Given the description of an element on the screen output the (x, y) to click on. 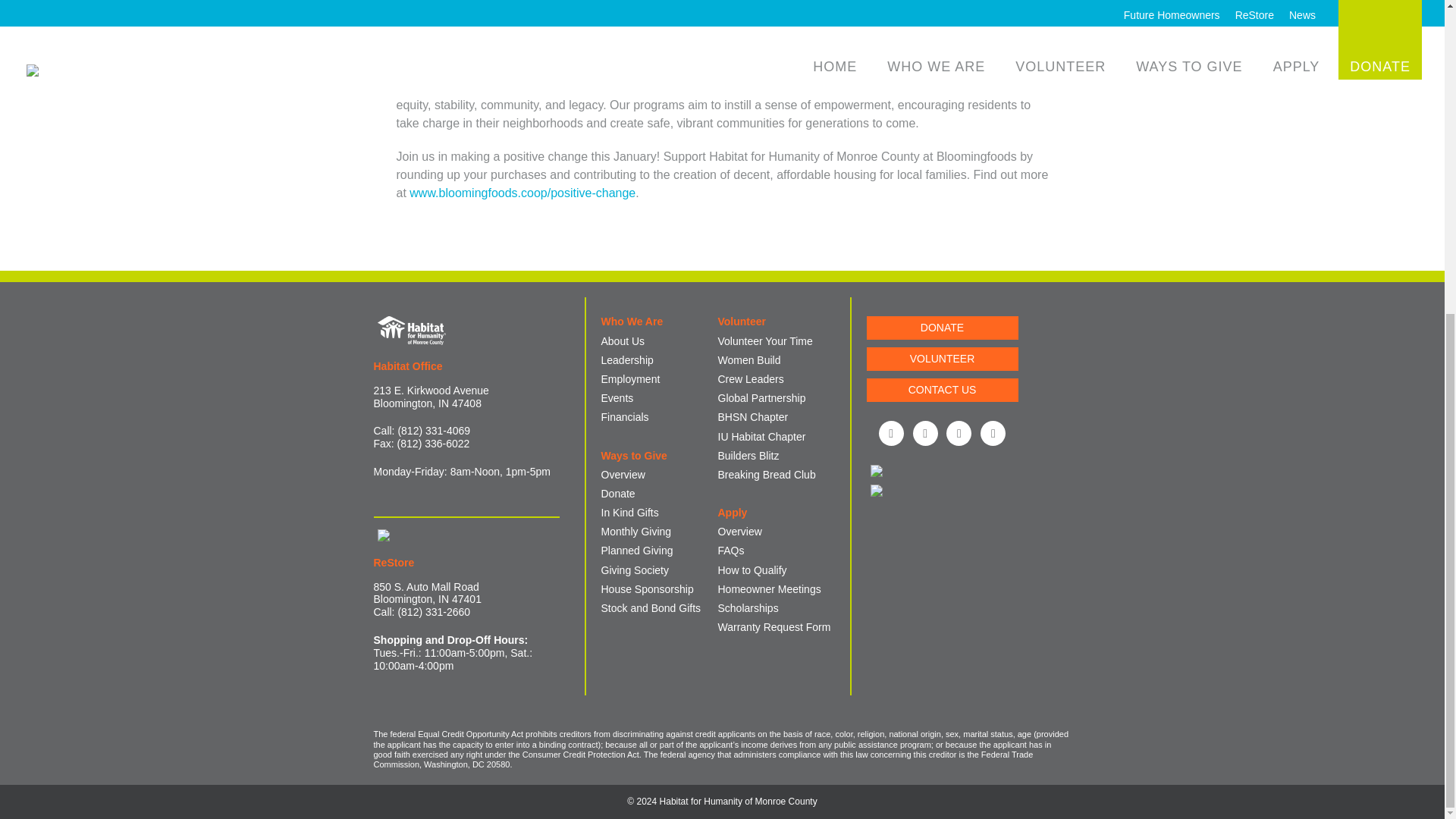
Leadership (625, 359)
Ways to Give (632, 454)
Volunteer (741, 321)
House Sponsorship (646, 589)
Employment (629, 378)
Giving Society (633, 570)
Stock and Bond Gifts (649, 607)
Overview (622, 474)
Who We Are (630, 321)
Monthly Giving (635, 531)
Events (616, 398)
Planned Giving (635, 550)
About Us (622, 340)
Financials (623, 417)
Donate (616, 493)
